Given the description of an element on the screen output the (x, y) to click on. 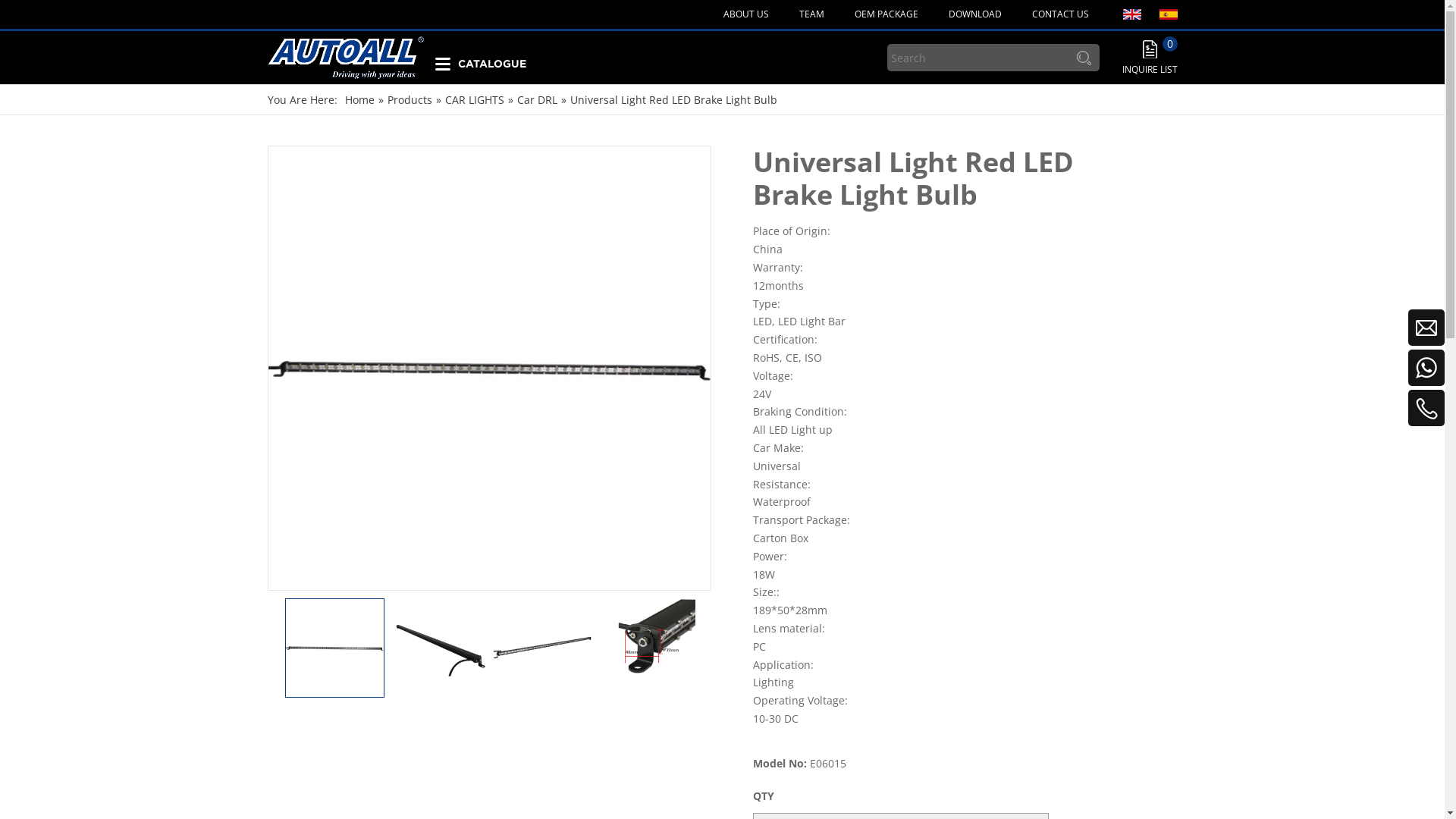
Home Element type: text (358, 99)
+86-182 2186 1645 Element type: text (1340, 414)
+86 18221861645 Element type: text (1344, 375)
CATALOGUE Element type: text (480, 57)
ABOUT US Element type: text (745, 14)
DOWNLOAD Element type: text (975, 14)
Car DRL Element type: text (537, 99)
CONTACT US Element type: text (1060, 14)
Products Element type: text (408, 99)
Universal Light Red LED Brake Light Bulb Element type: text (673, 99)
OEM PACKAGE Element type: text (886, 14)
INQUIRE LIST Element type: text (1149, 57)
eleven@autoall.cc Element type: text (1346, 334)
CAR LIGHTS Element type: text (473, 99)
TEAM Element type: text (810, 14)
